Given the description of an element on the screen output the (x, y) to click on. 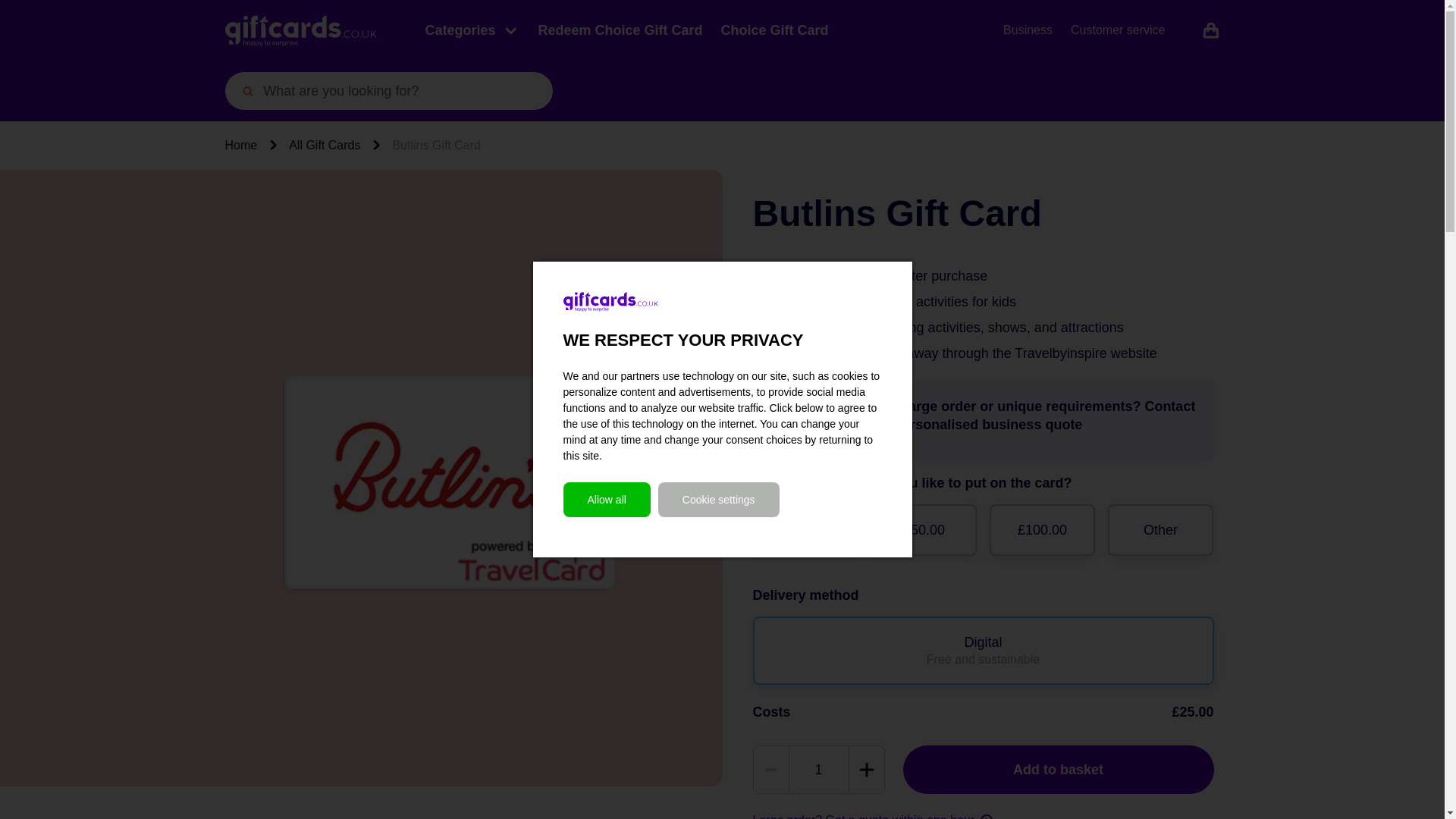
All Gift Cards (323, 145)
Add to basket (1057, 769)
Redeem Choice Gift Card (620, 30)
Business (1027, 30)
Choice Gift Card (774, 30)
Home (240, 145)
Large order? Get a quote within one hour (872, 815)
1 (818, 769)
Customer service (1117, 30)
